Given the description of an element on the screen output the (x, y) to click on. 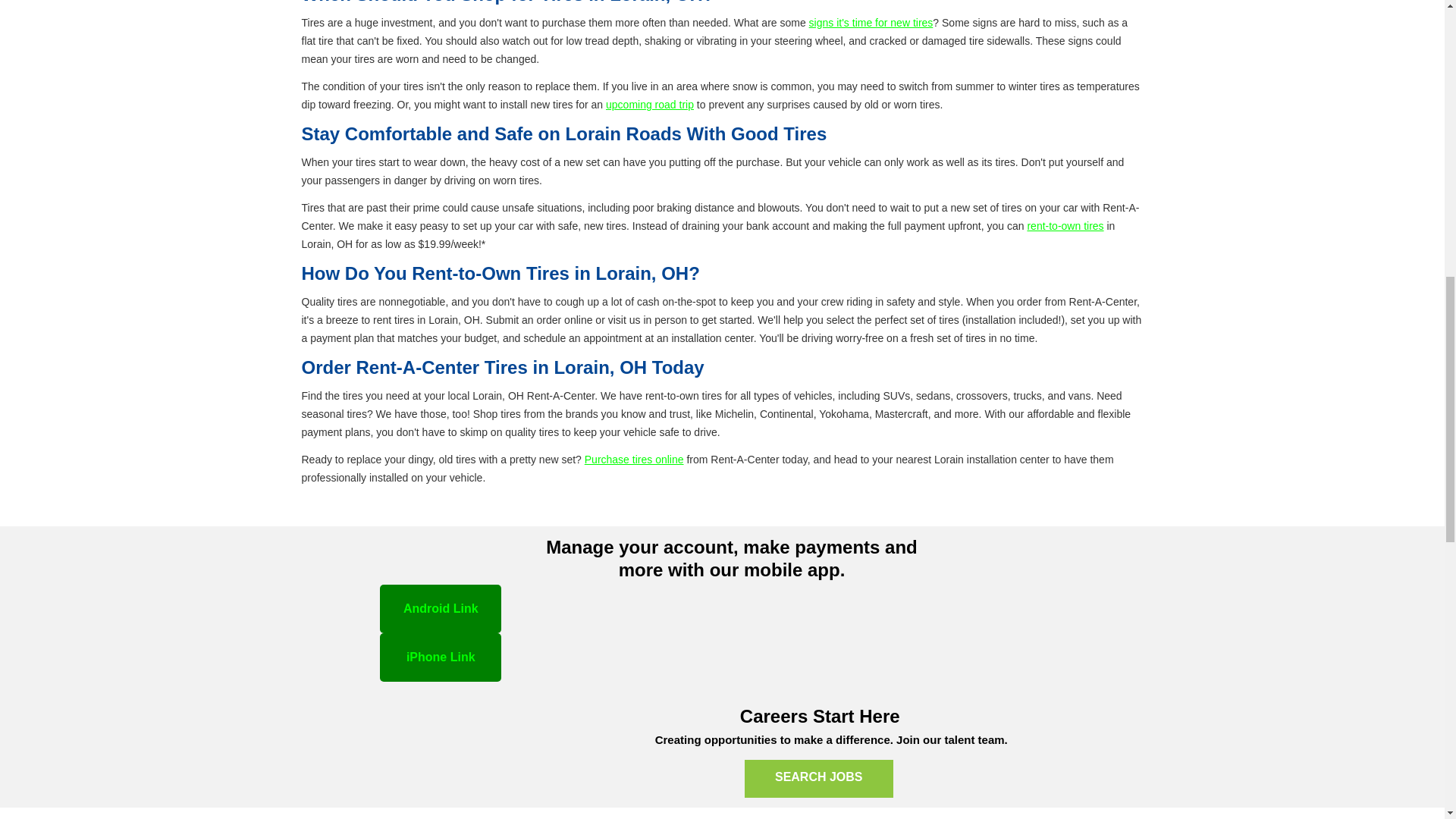
signs it's time for new tires (871, 22)
